Given the description of an element on the screen output the (x, y) to click on. 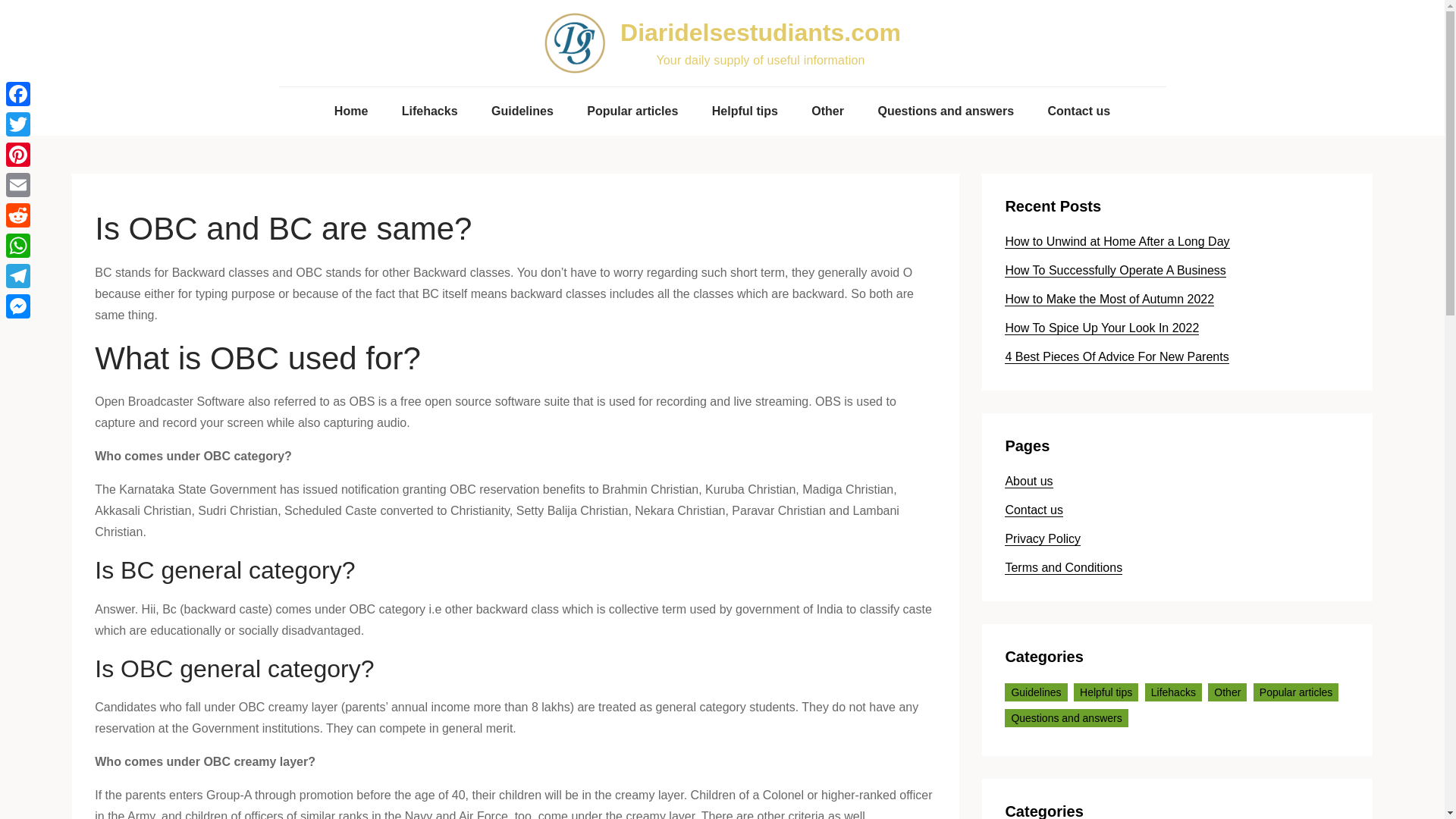
Helpful tips (745, 110)
Contact us (1033, 509)
Questions and answers (1065, 718)
How to Make the Most of Autumn 2022 (1109, 299)
Privacy Policy (1042, 539)
Reddit (17, 214)
WhatsApp (17, 245)
Home (350, 110)
How To Successfully Operate A Business (1114, 270)
Other (827, 110)
Popular articles (1296, 692)
Guidelines (522, 110)
Popular articles (632, 110)
How to Unwind at Home After a Long Day (1116, 241)
Guidelines (1035, 692)
